Given the description of an element on the screen output the (x, y) to click on. 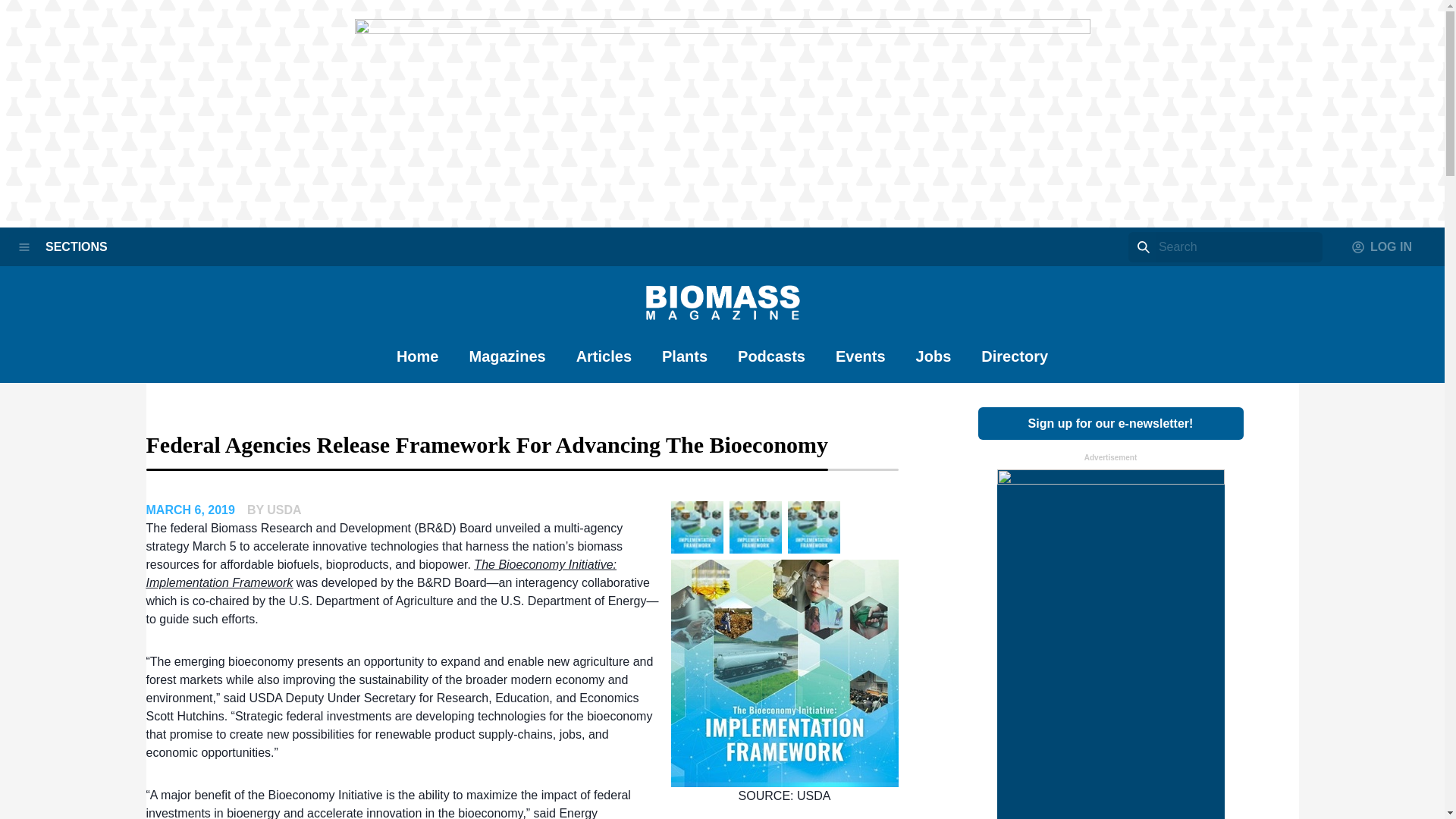
The Bioeconomy Initiative: Implementation Framework (380, 572)
Events (860, 364)
Home (417, 363)
Jobs (933, 363)
Plants (684, 364)
Podcasts (771, 363)
Articles (603, 363)
Directory (1014, 364)
LOG IN (1381, 246)
Magazines (506, 364)
